Given the description of an element on the screen output the (x, y) to click on. 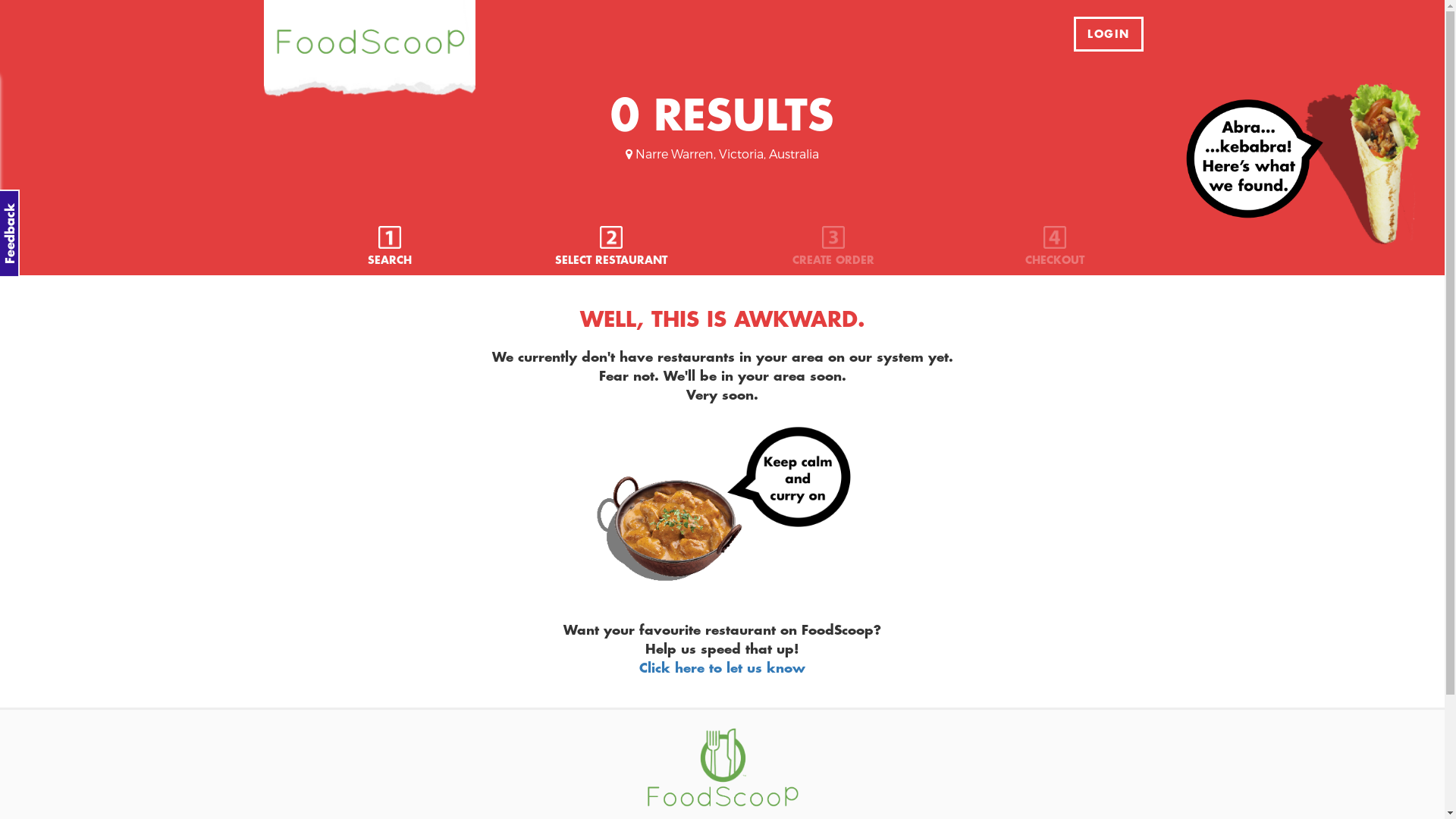
CREATE ORDER Element type: text (833, 246)
CHECKOUT Element type: text (1054, 246)
LOGIN Element type: text (1108, 33)
SEARCH Element type: text (389, 246)
SELECT RESTAURANT Element type: text (611, 246)
Click here to let us know Element type: text (722, 666)
